Given the description of an element on the screen output the (x, y) to click on. 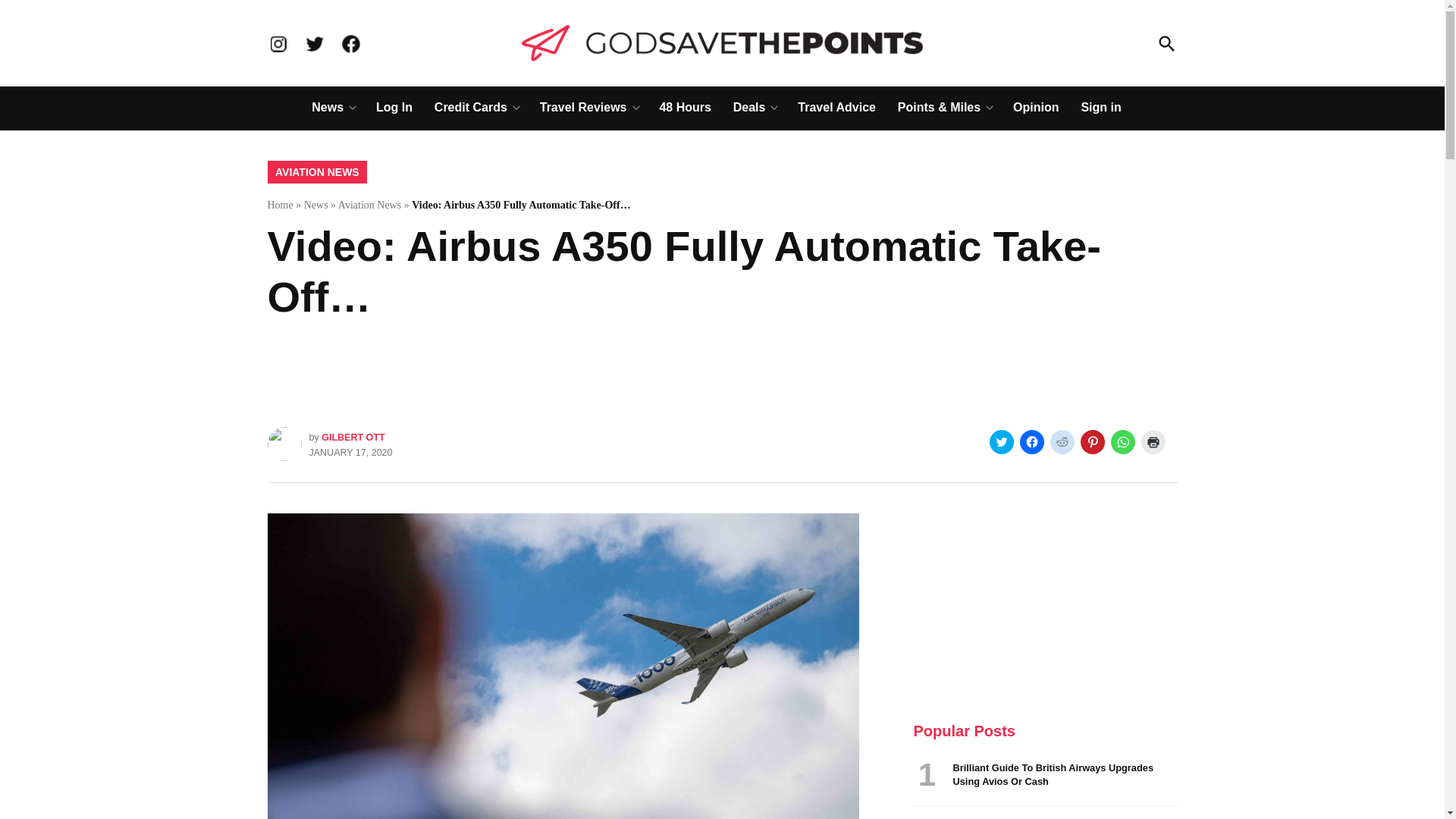
Click to print (1152, 441)
Instagram (277, 44)
Click to share on Twitter (1000, 441)
Click to share on Reddit (1061, 441)
Twitter (313, 44)
Click to share on Facebook (1031, 441)
Click to share on WhatsApp (1121, 441)
Click to share on Pinterest (1091, 441)
